Given the description of an element on the screen output the (x, y) to click on. 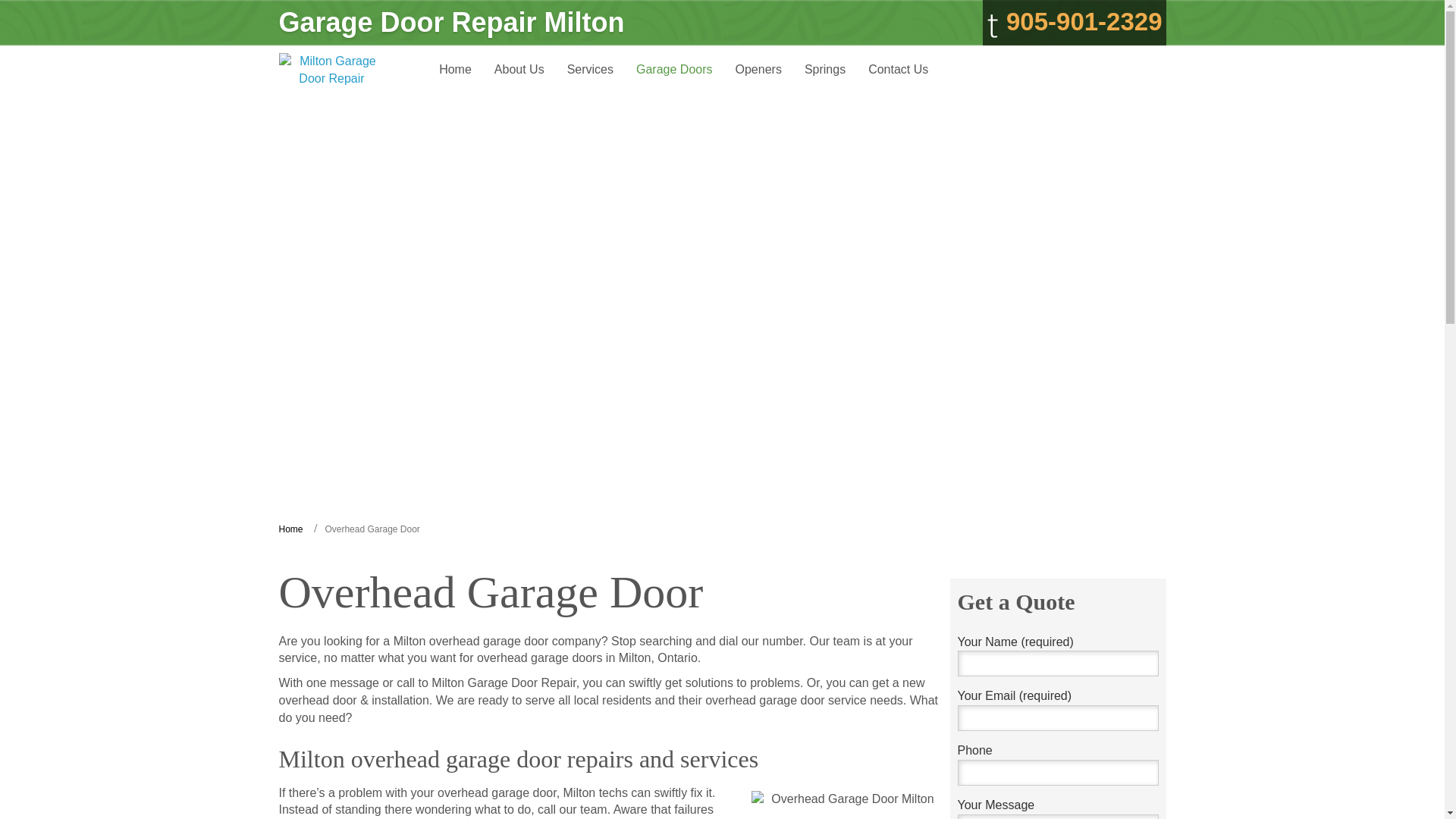
Springs (825, 70)
Home (455, 70)
Home (290, 529)
Openers (758, 70)
About Us (519, 70)
Garage Doors (673, 70)
Services (590, 70)
Contact Us (898, 70)
905-901-2329 (1074, 22)
